Given the description of an element on the screen output the (x, y) to click on. 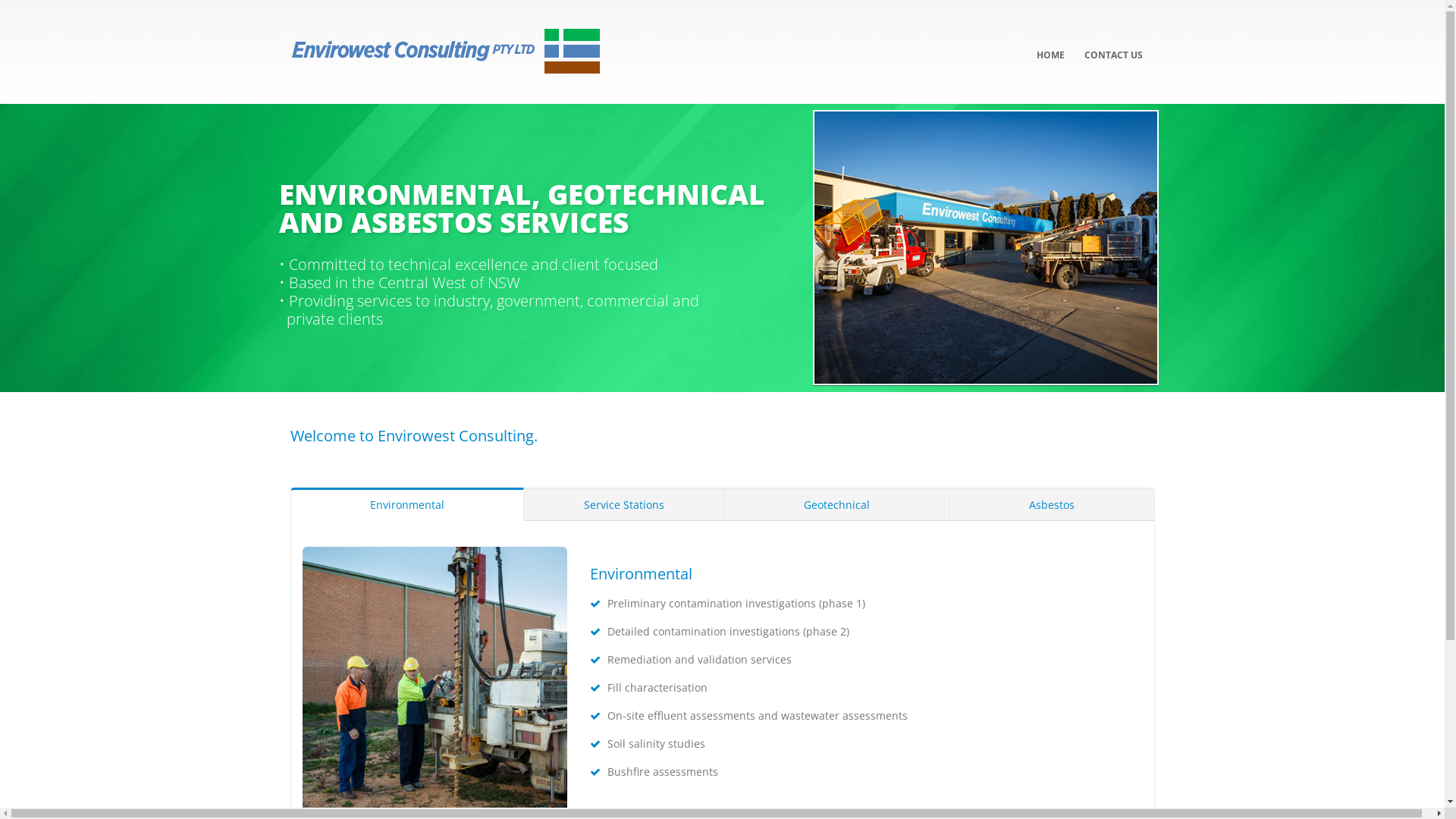
Geotechnical Element type: text (836, 503)
CONTACT US Element type: text (1112, 43)
HOME Element type: text (1050, 43)
Environmental Element type: text (406, 503)
Asbestos Element type: text (1051, 503)
Service Stations Element type: text (624, 503)
